Given the description of an element on the screen output the (x, y) to click on. 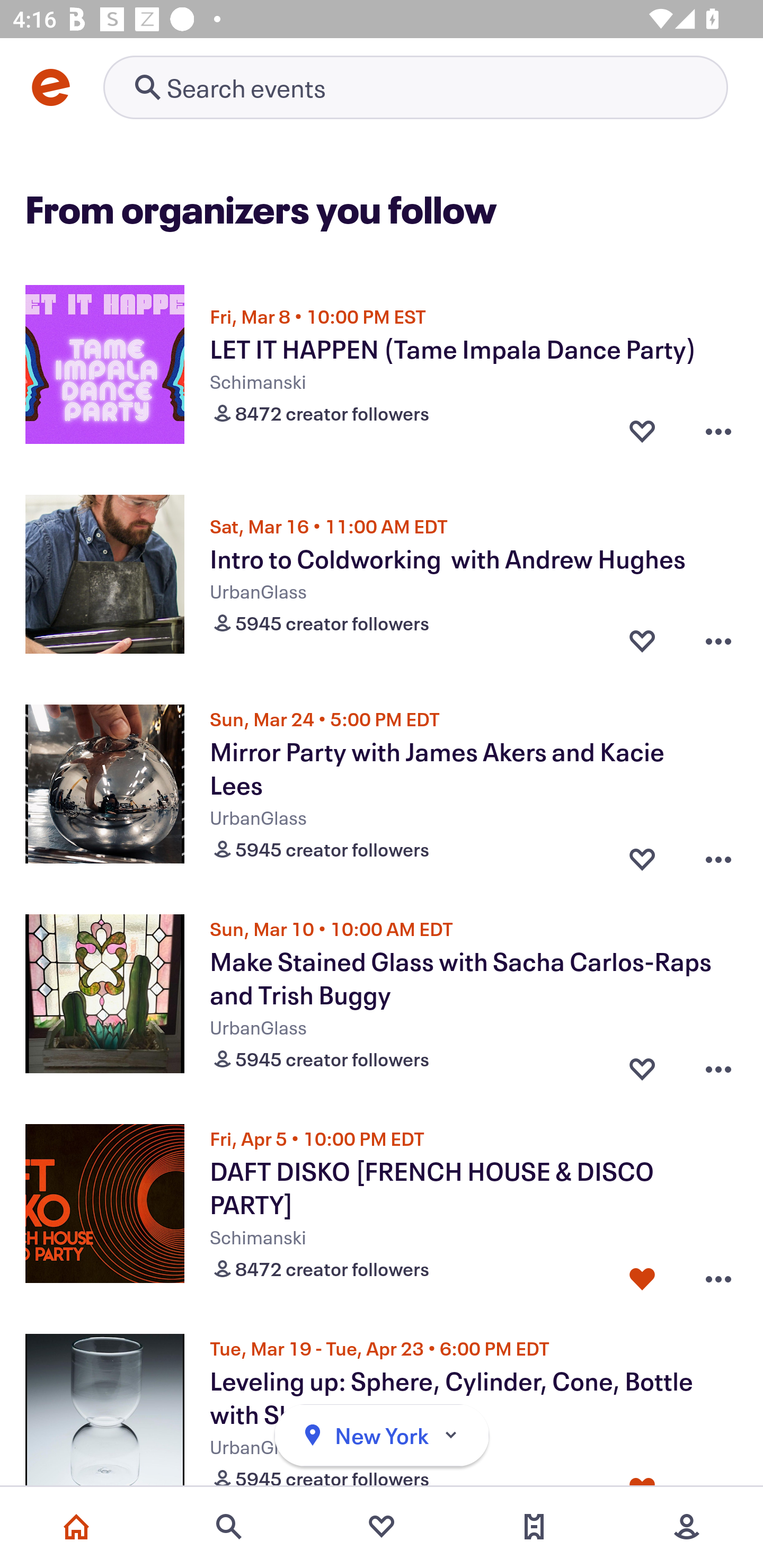
Retry's image Search events (415, 86)
Favorite button (642, 430)
Overflow menu button (718, 430)
Favorite button (642, 640)
Overflow menu button (718, 640)
Favorite button (642, 855)
Overflow menu button (718, 855)
Favorite button (642, 1065)
Overflow menu button (718, 1065)
Favorite button (642, 1274)
Overflow menu button (718, 1274)
New York (381, 1435)
Home (76, 1526)
Search events (228, 1526)
Favorites (381, 1526)
Tickets (533, 1526)
More (686, 1526)
